Given the description of an element on the screen output the (x, y) to click on. 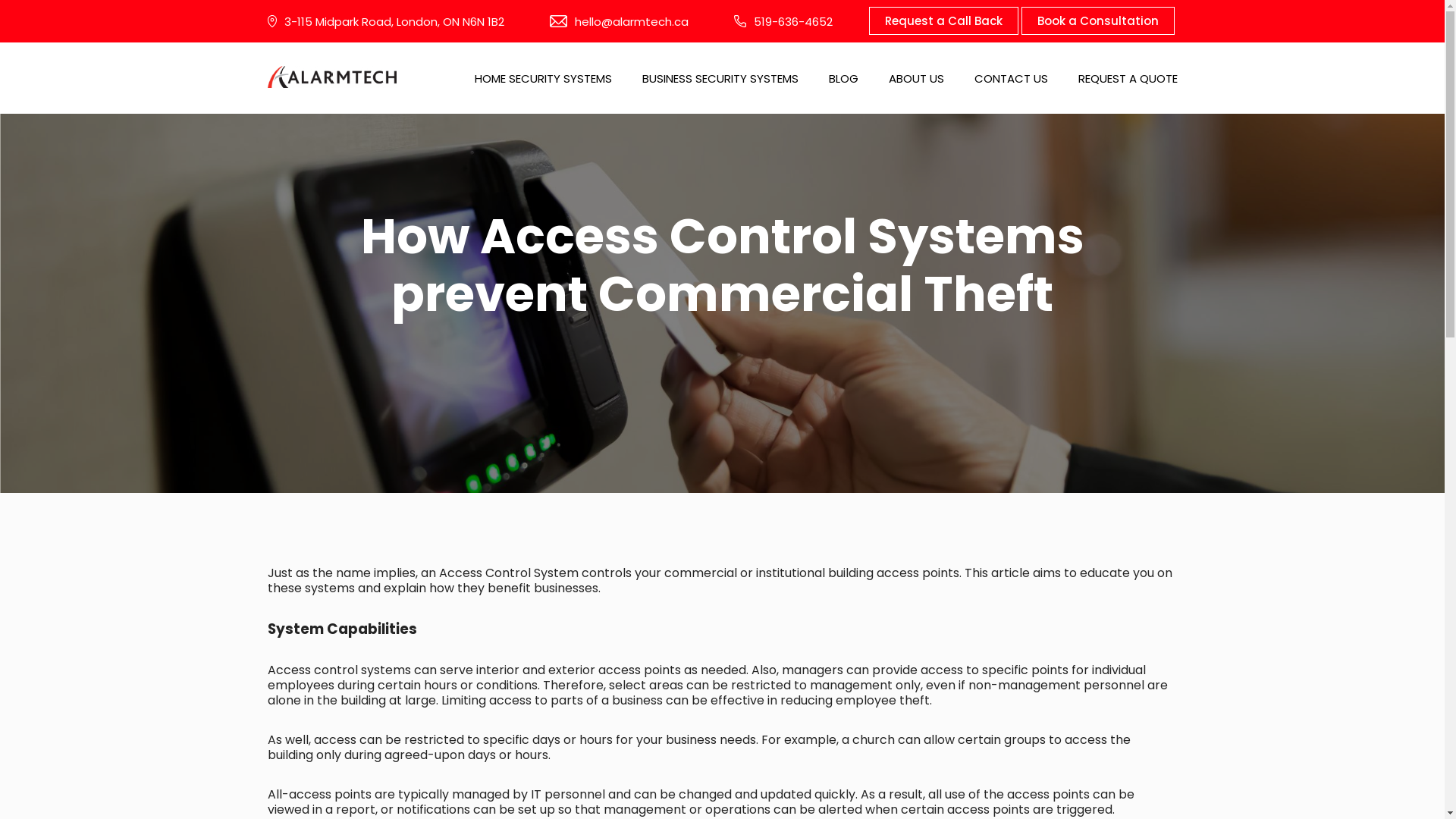
ABOUT US Element type: text (916, 77)
3-115 Midpark Road, London, ON N6N 1B2 Element type: text (384, 21)
BLOG Element type: text (842, 77)
REQUEST A QUOTE Element type: text (1127, 77)
CONTACT US Element type: text (1010, 77)
HOME SECURITY SYSTEMS Element type: text (542, 77)
Request a Call Back Element type: text (943, 20)
BUSINESS SECURITY SYSTEMS Element type: text (719, 77)
519-636-4652 Element type: text (783, 21)
hello@alarmtech.ca Element type: text (618, 21)
Book a Consultation Element type: text (1096, 20)
